Given the description of an element on the screen output the (x, y) to click on. 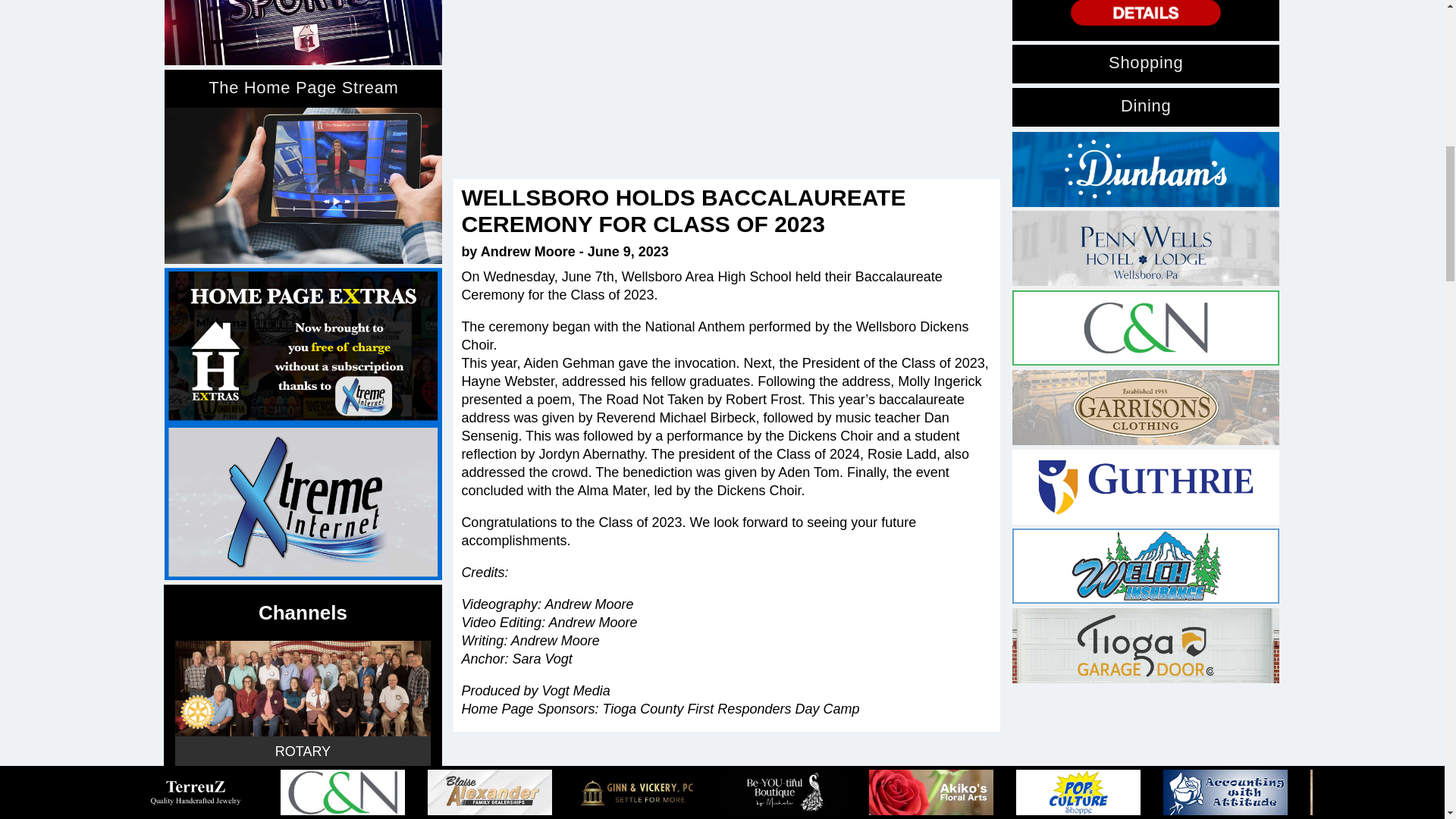
The Home Page Stream (303, 185)
Rotary Conference (301, 801)
Home Page Sports (303, 32)
Rotary (301, 688)
